Given the description of an element on the screen output the (x, y) to click on. 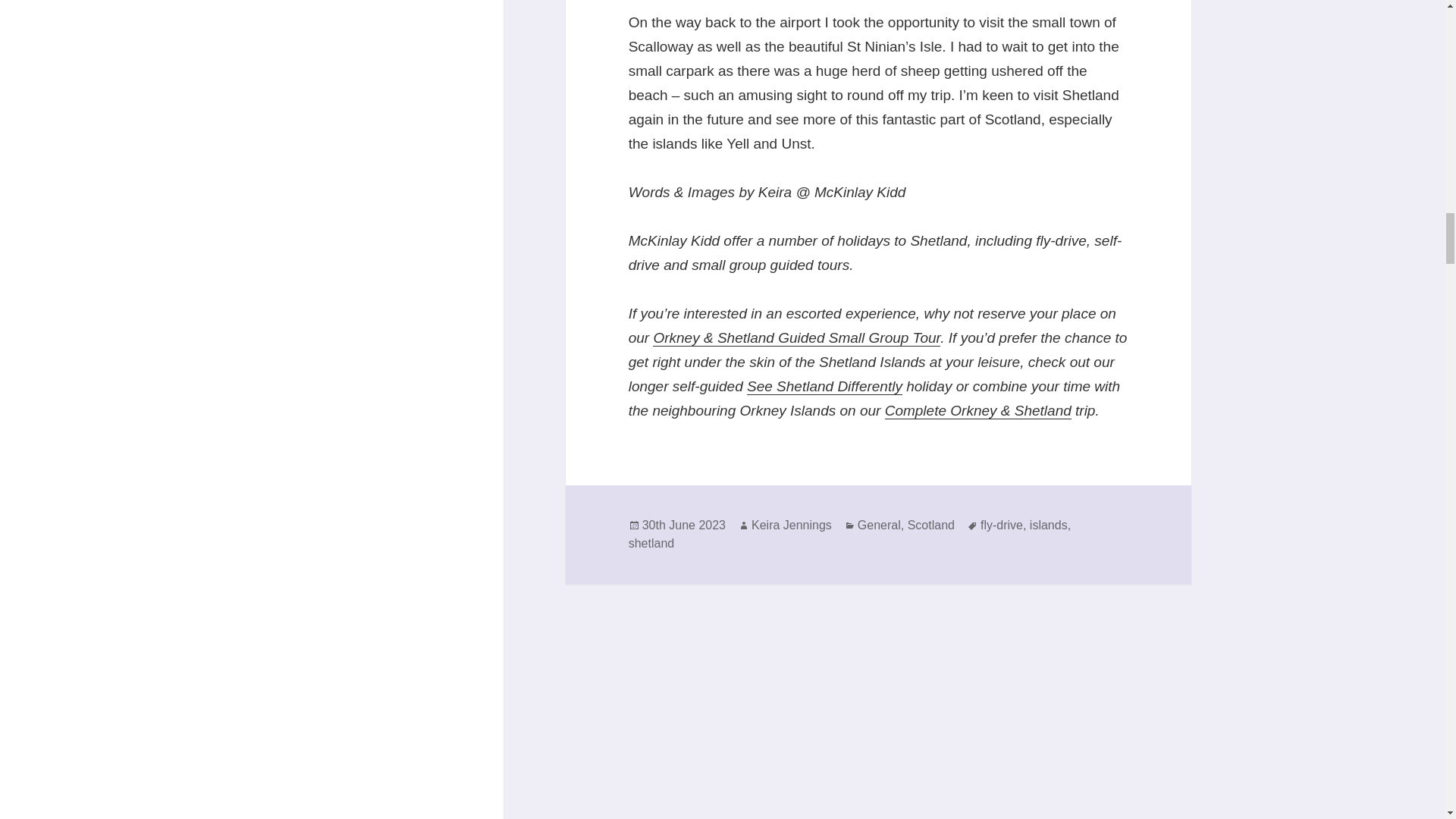
shetland (651, 543)
islands (1048, 525)
Scotland (931, 525)
Keira Jennings (791, 525)
See Shetland Differently (824, 386)
fly-drive (1001, 525)
30th June 2023 (683, 525)
General (879, 525)
